Given the description of an element on the screen output the (x, y) to click on. 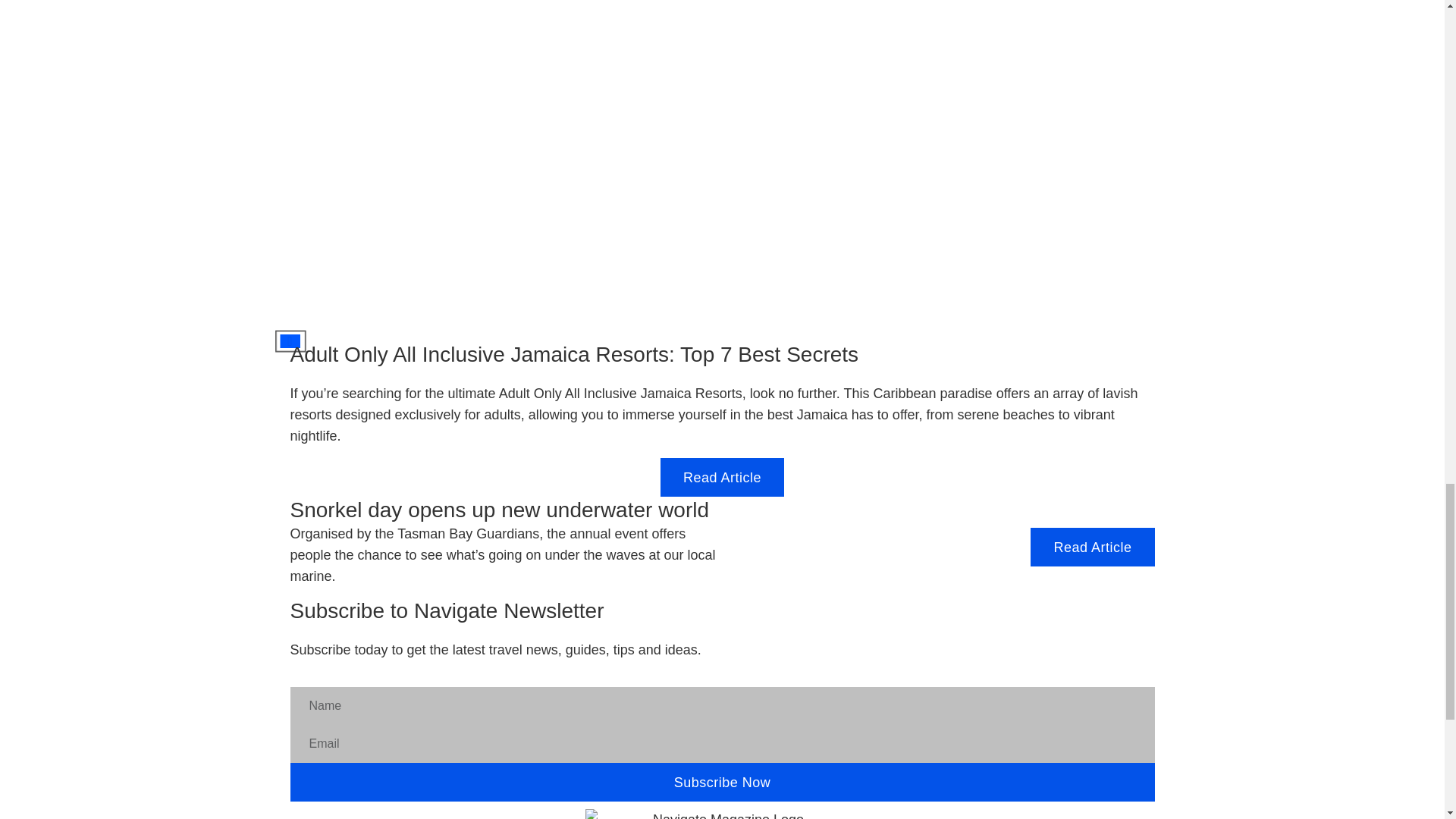
Take a Georgia Food Trip (289, 341)
